Given the description of an element on the screen output the (x, y) to click on. 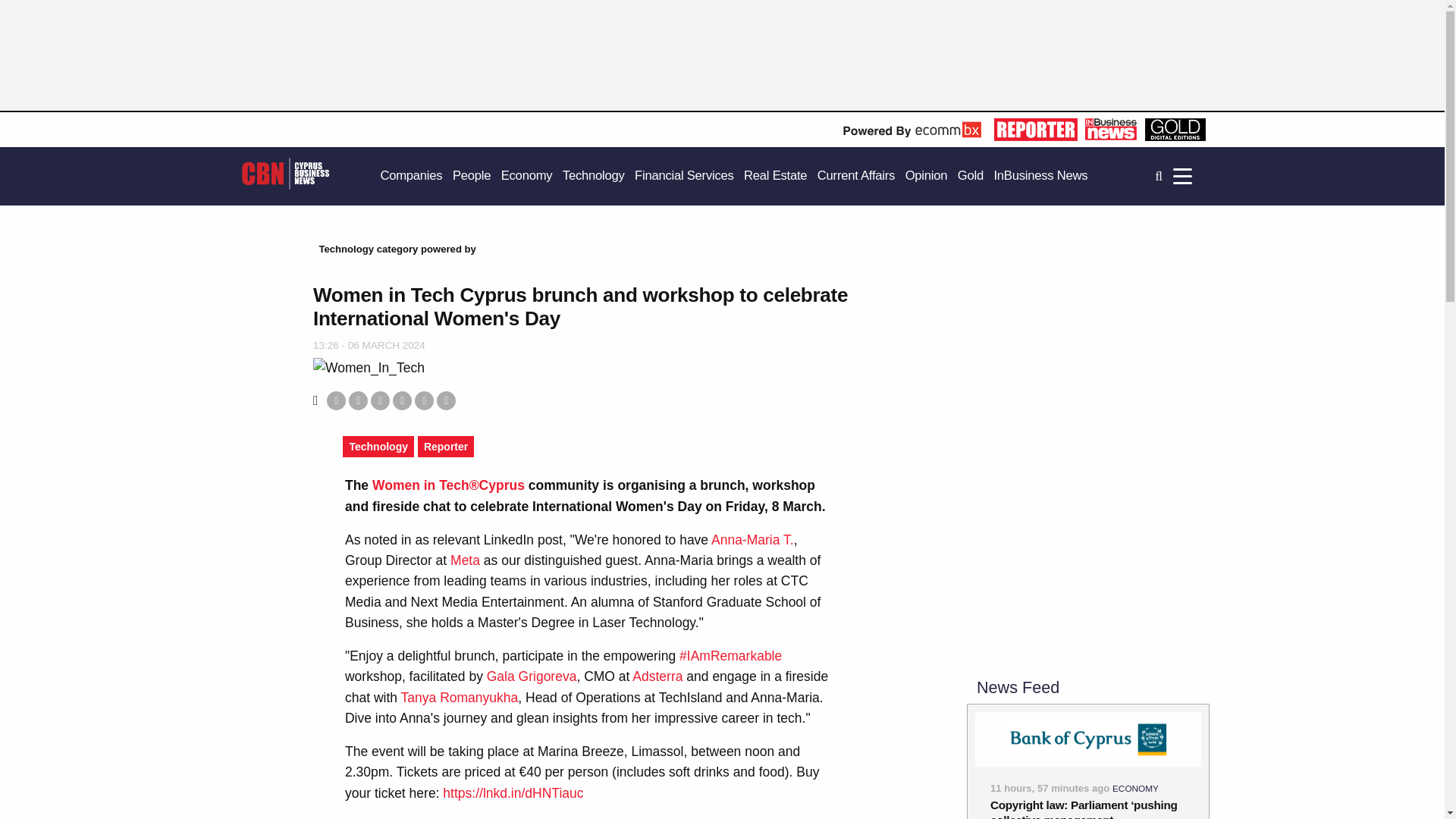
3rd party ad content (1088, 557)
People (471, 176)
Economy (526, 176)
3rd party ad content (1088, 345)
Technology (593, 176)
Financial Services (684, 176)
Real Estate (775, 176)
Opinion (926, 176)
3rd party ad content (549, 62)
Current Affairs (855, 176)
